Given the description of an element on the screen output the (x, y) to click on. 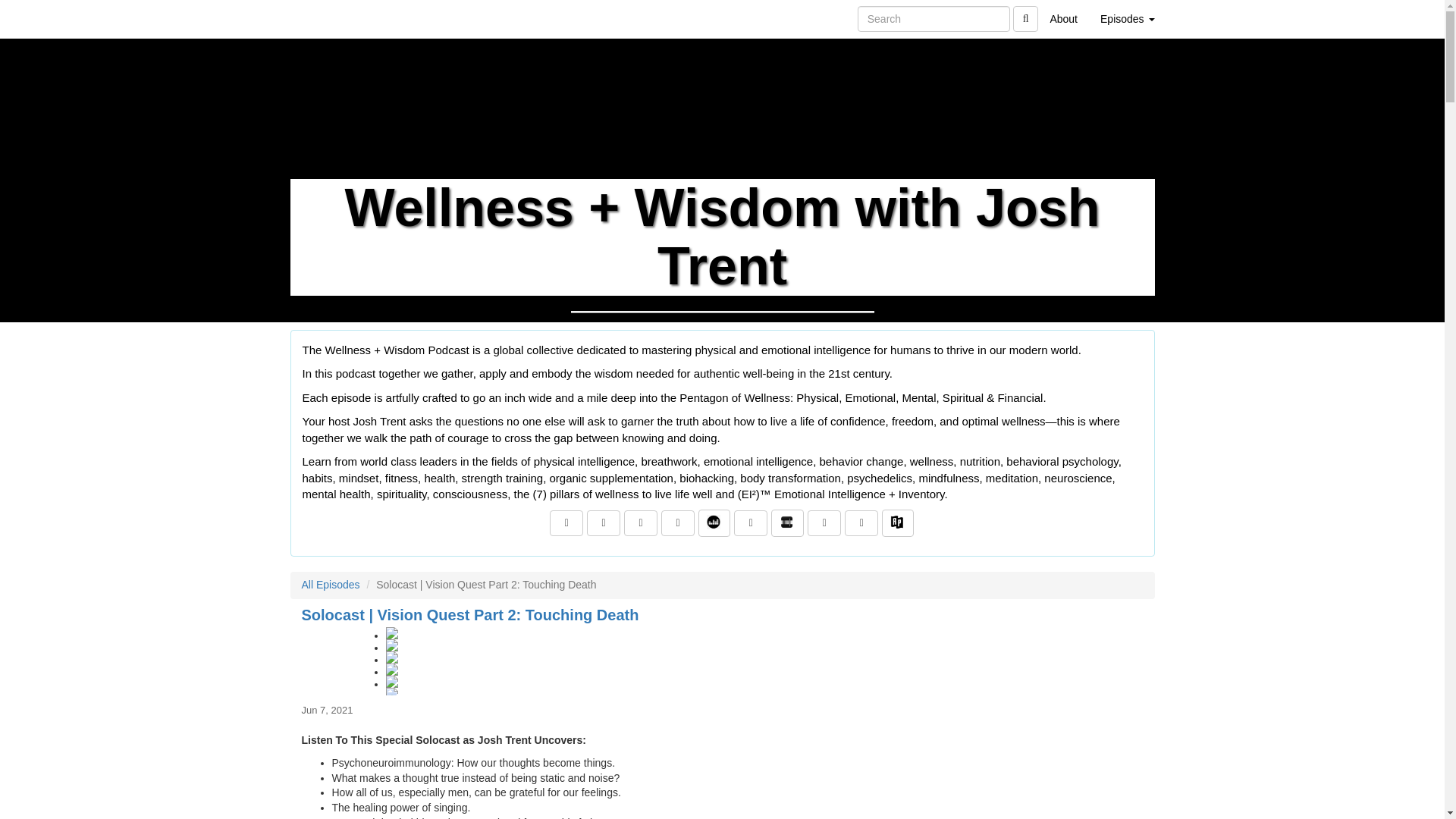
Visit Us on Twitter (603, 523)
Episodes (1127, 18)
Visit Us on Facebook (566, 523)
Go To YouTube Channel (860, 523)
About (1063, 18)
View Our LinkedIn Page (641, 523)
Listen on Radio Public (898, 523)
Listen on Deezer (714, 523)
Subscribe to RSS Feed (677, 523)
Listen on Stitcher (787, 523)
